Given the description of an element on the screen output the (x, y) to click on. 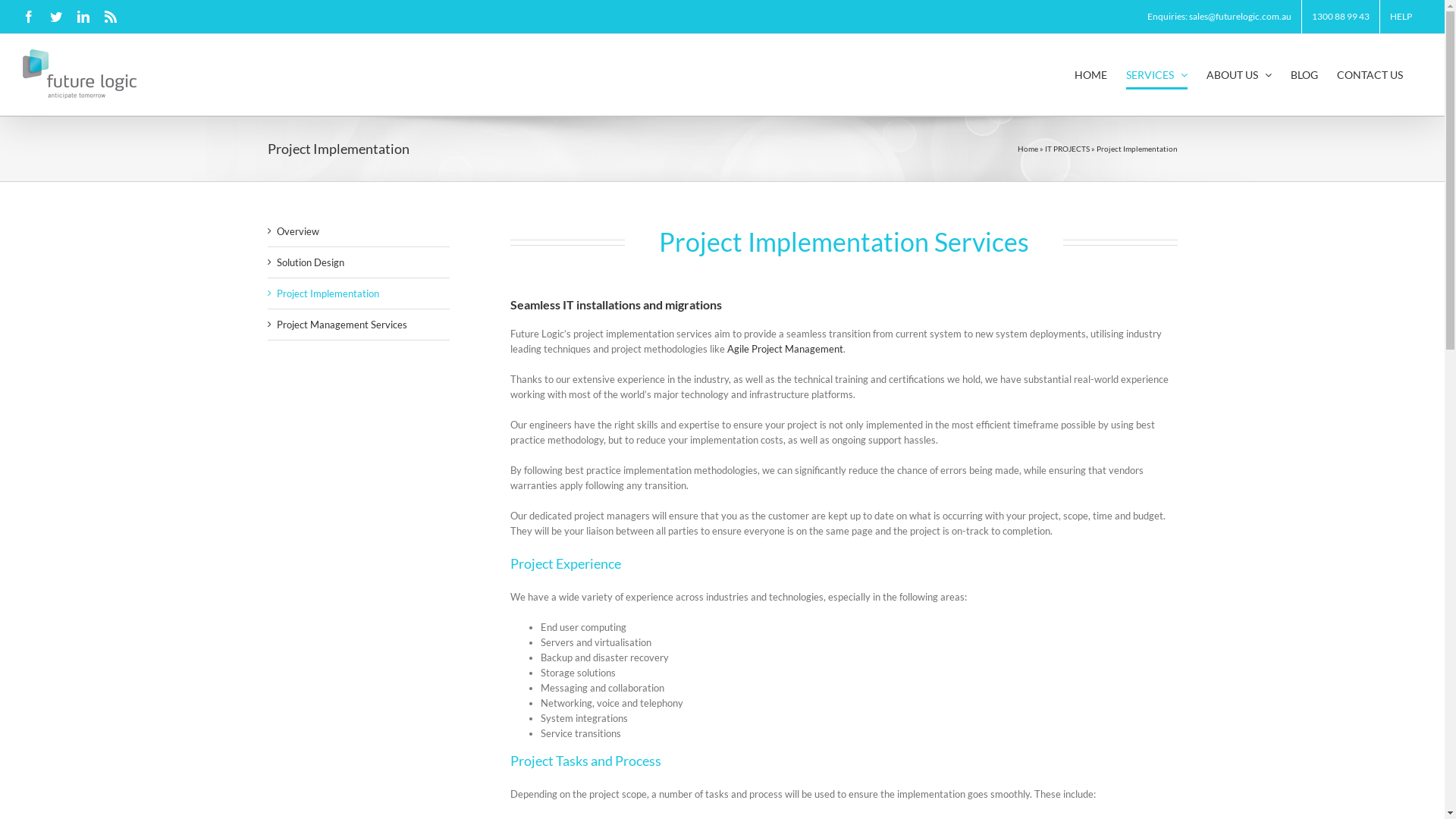
Facebook Element type: text (28, 16)
Enquiries: sales@futurelogic.com.au Element type: text (1219, 16)
HOME Element type: text (1090, 74)
Overview Element type: text (297, 231)
IT PROJECTS Element type: text (1066, 148)
1300 88 99 43 Element type: text (1340, 16)
Solution Design Element type: text (309, 262)
Project Implementation Element type: text (327, 293)
CONTACT US Element type: text (1369, 74)
SERVICES Element type: text (1156, 74)
HELP Element type: text (1400, 16)
BLOG Element type: text (1303, 74)
Agile Project Management Element type: text (784, 348)
Project Management Services Element type: text (341, 324)
ABOUT US Element type: text (1238, 74)
LinkedIn Element type: text (83, 16)
Twitter Element type: text (56, 16)
Home Element type: text (1027, 148)
Rss Element type: text (110, 16)
